Given the description of an element on the screen output the (x, y) to click on. 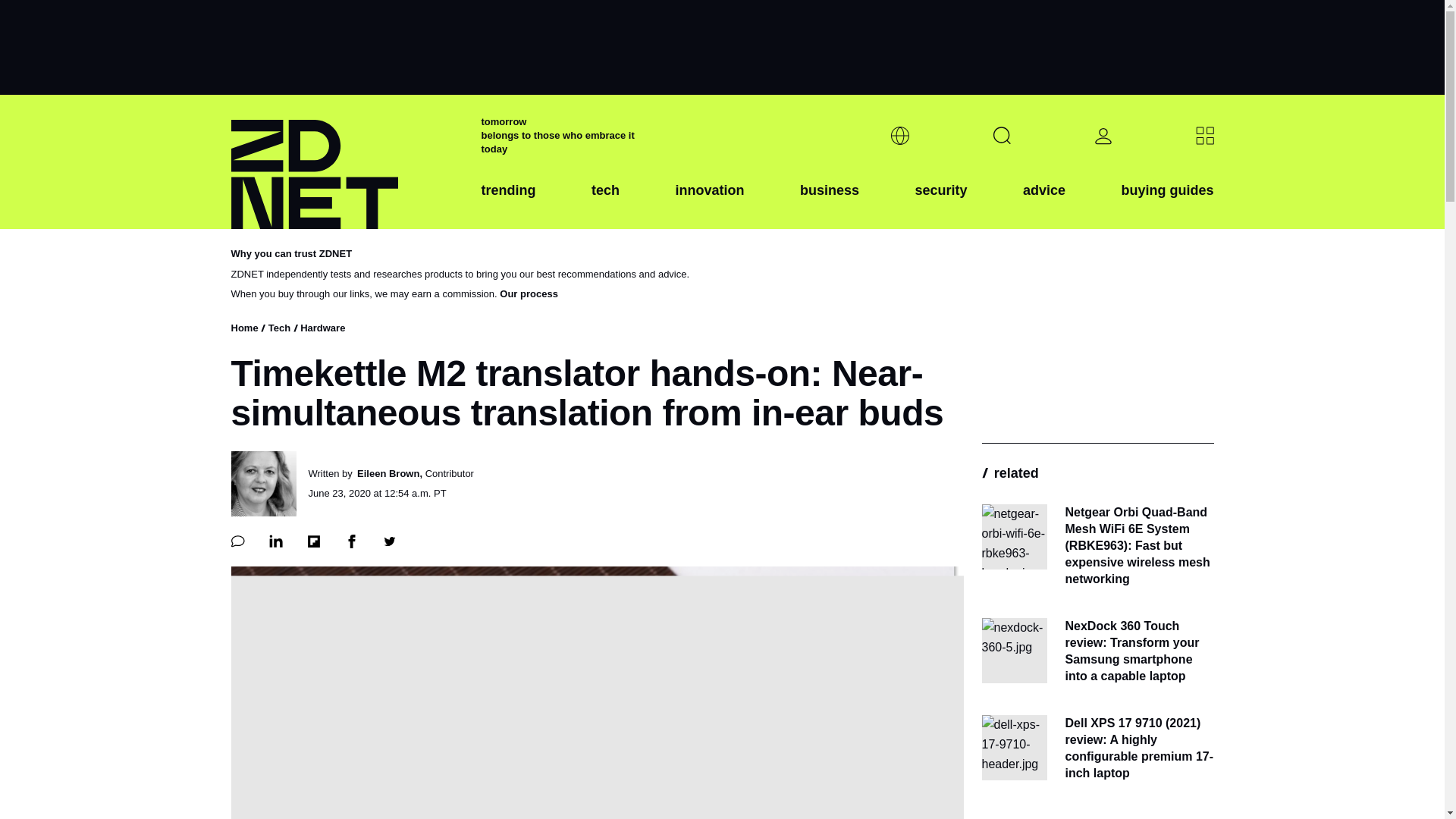
ZDNET (346, 162)
trending (507, 202)
